Given the description of an element on the screen output the (x, y) to click on. 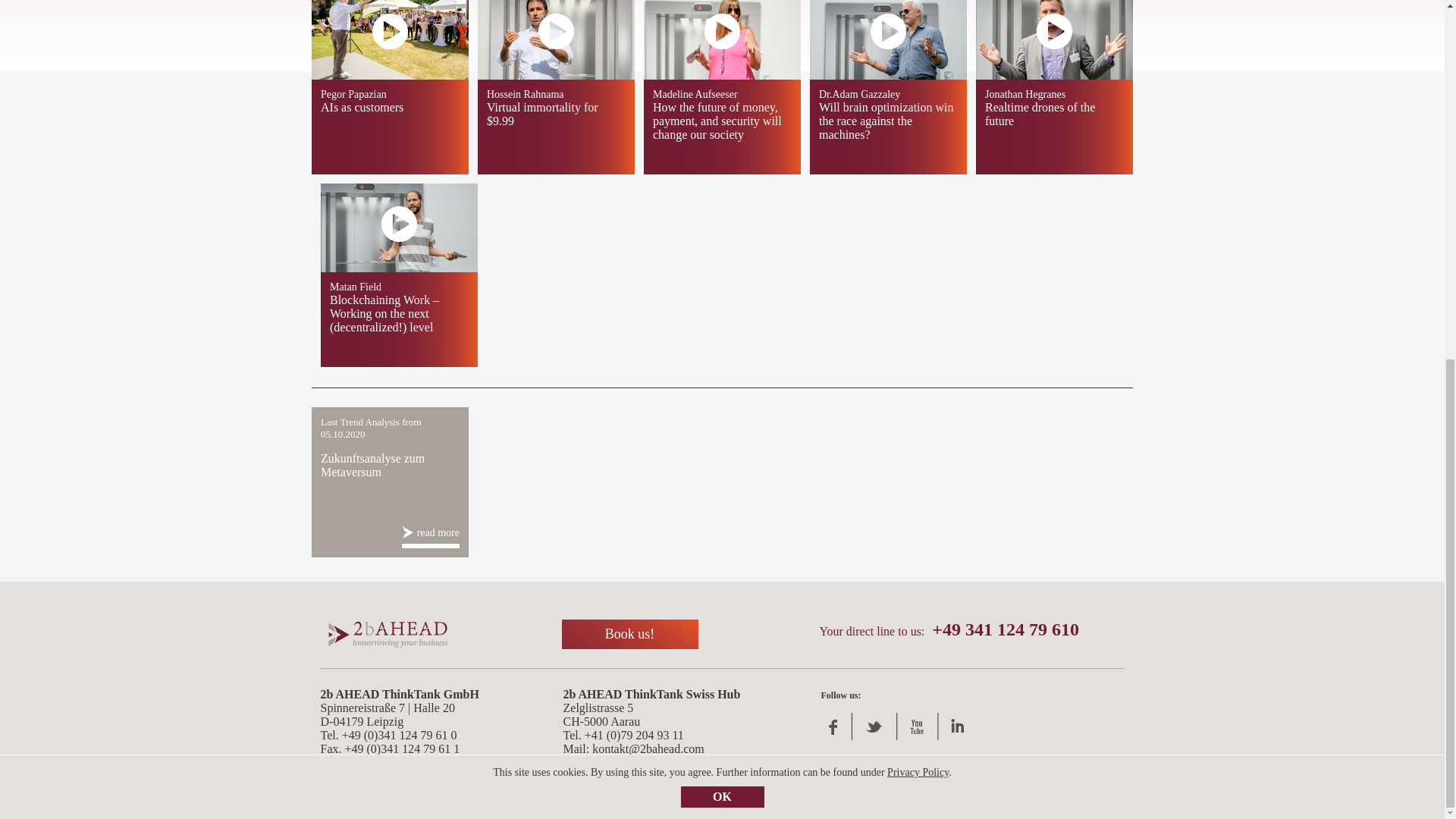
linkedin (957, 727)
Book us! (628, 634)
YouTube (916, 727)
Home (387, 634)
Facebook (835, 727)
Privacy Policy (917, 136)
Twitter (873, 727)
Imprint (339, 802)
